Given the description of an element on the screen output the (x, y) to click on. 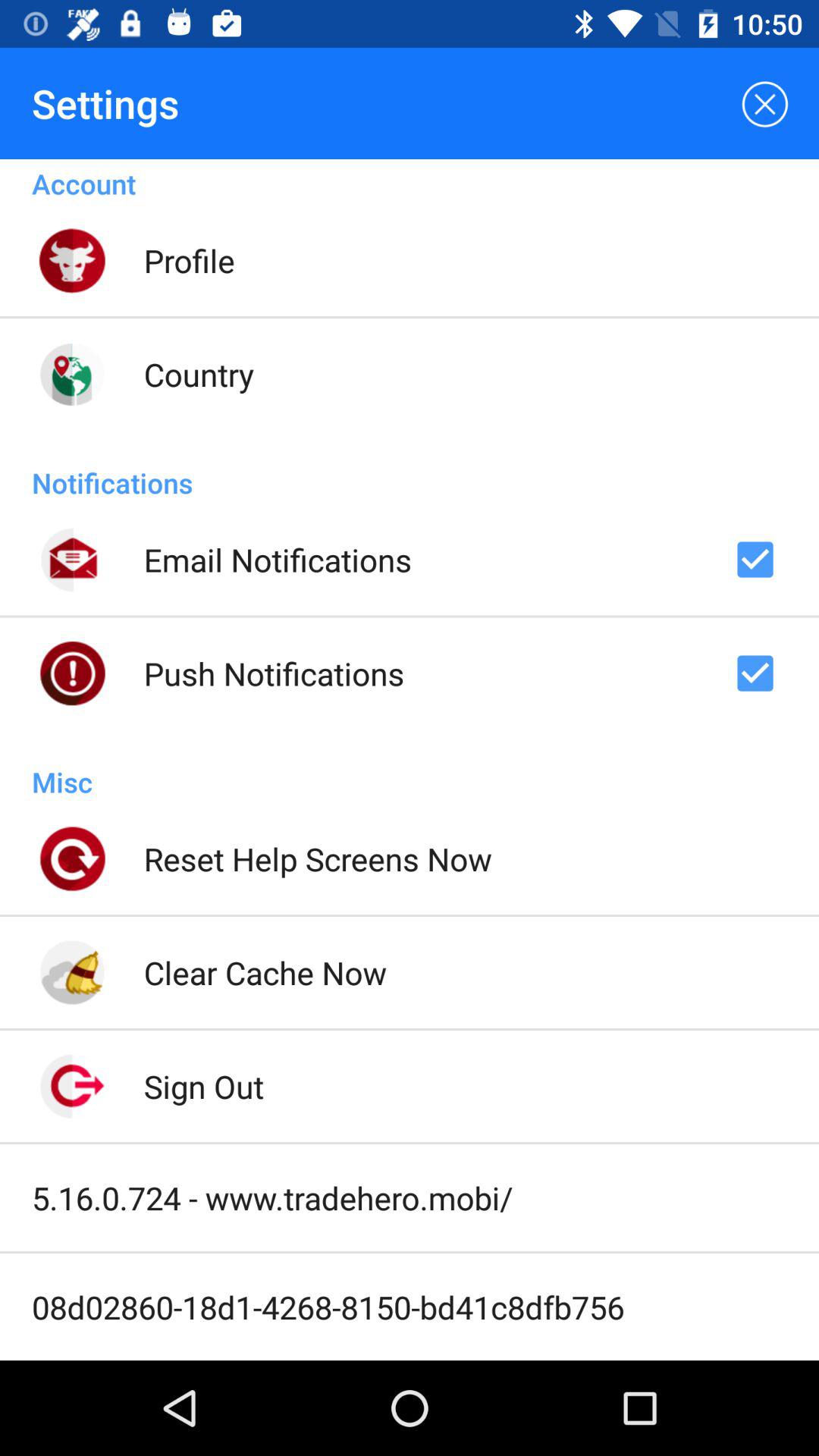
open push notifications icon (273, 673)
